Given the description of an element on the screen output the (x, y) to click on. 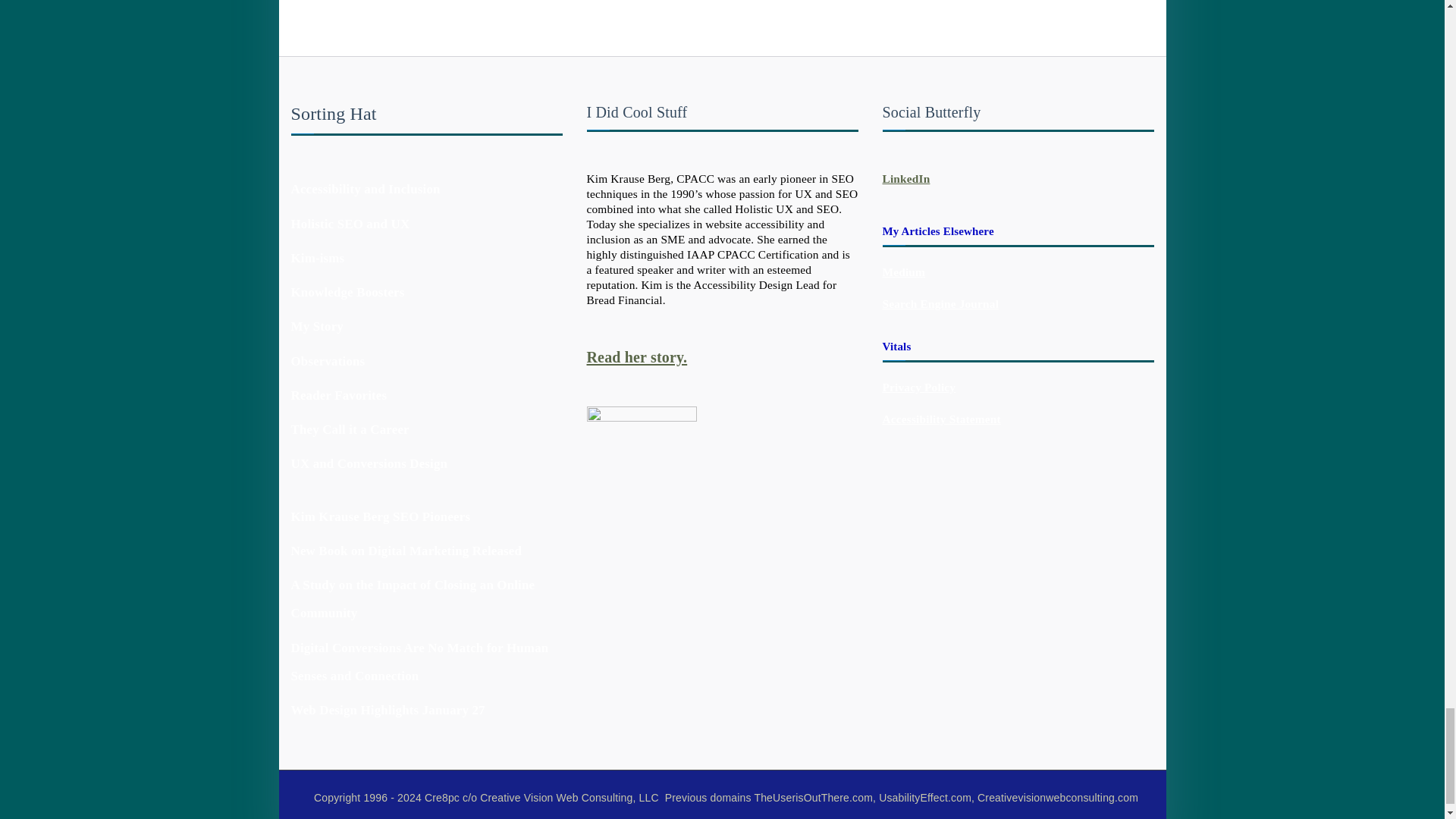
Knowledge Boosters (347, 292)
Kim-isms (318, 257)
Holistic SEO and UX (350, 223)
My Story (317, 326)
Accessibility and Inclusion (366, 189)
